Given the description of an element on the screen output the (x, y) to click on. 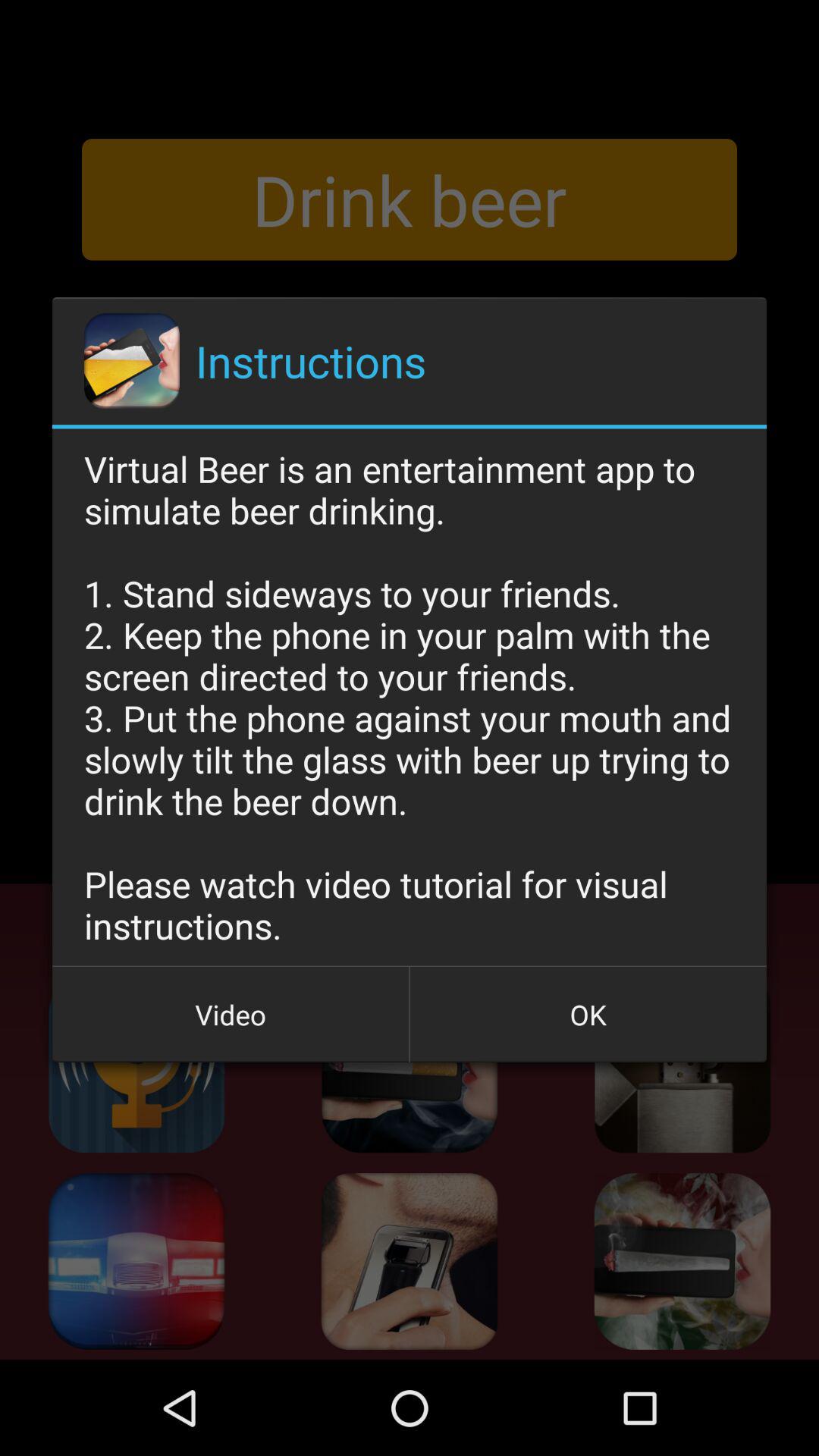
flip to video (230, 1014)
